Given the description of an element on the screen output the (x, y) to click on. 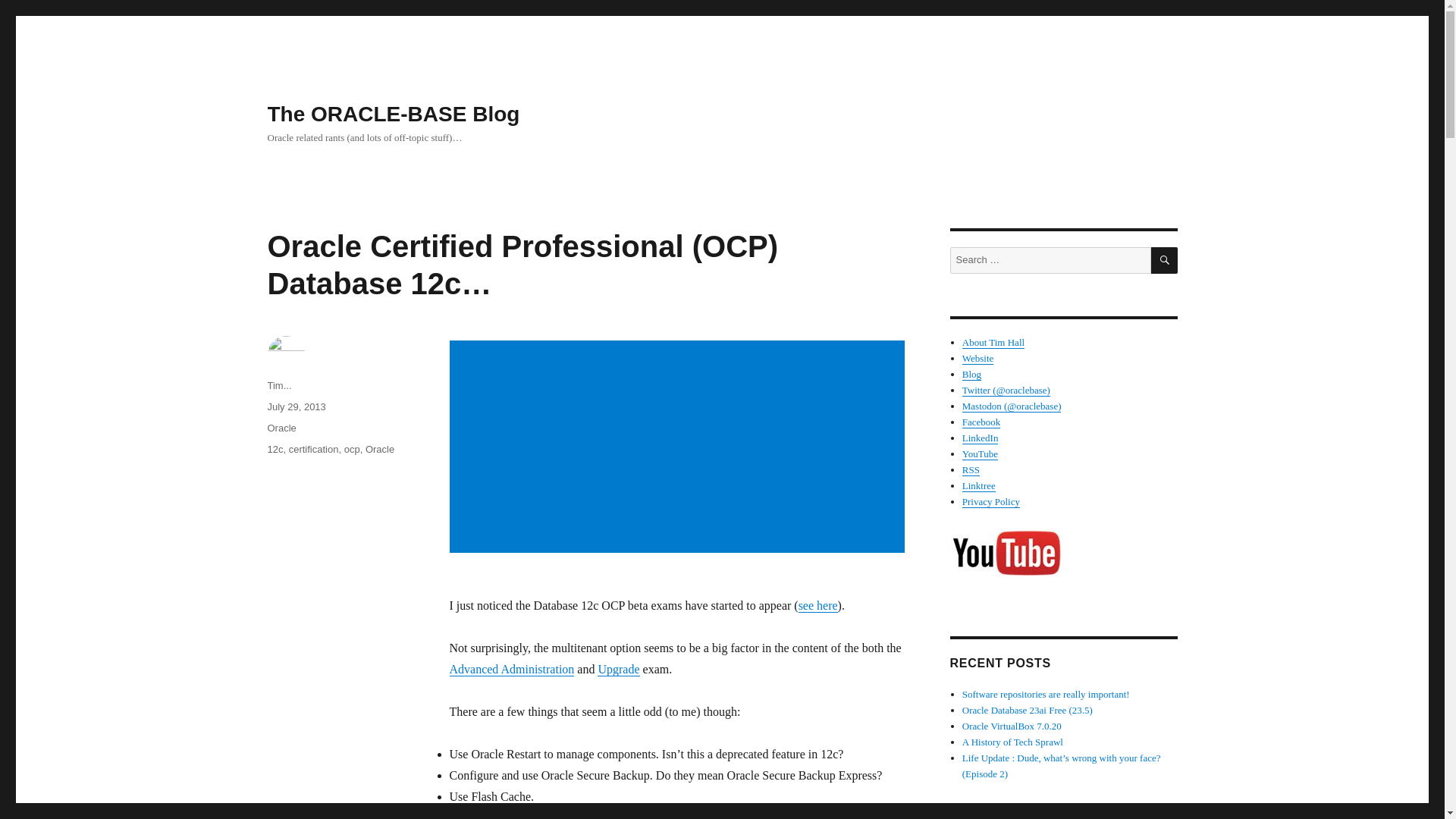
Oracle (379, 449)
certification (313, 449)
ocp (351, 449)
The ORACLE-BASE Blog (392, 114)
Advanced Administration (510, 668)
Website (978, 357)
Tim... (278, 385)
Advertisement (679, 448)
About Tim Hall (993, 342)
12c (274, 449)
